Given the description of an element on the screen output the (x, y) to click on. 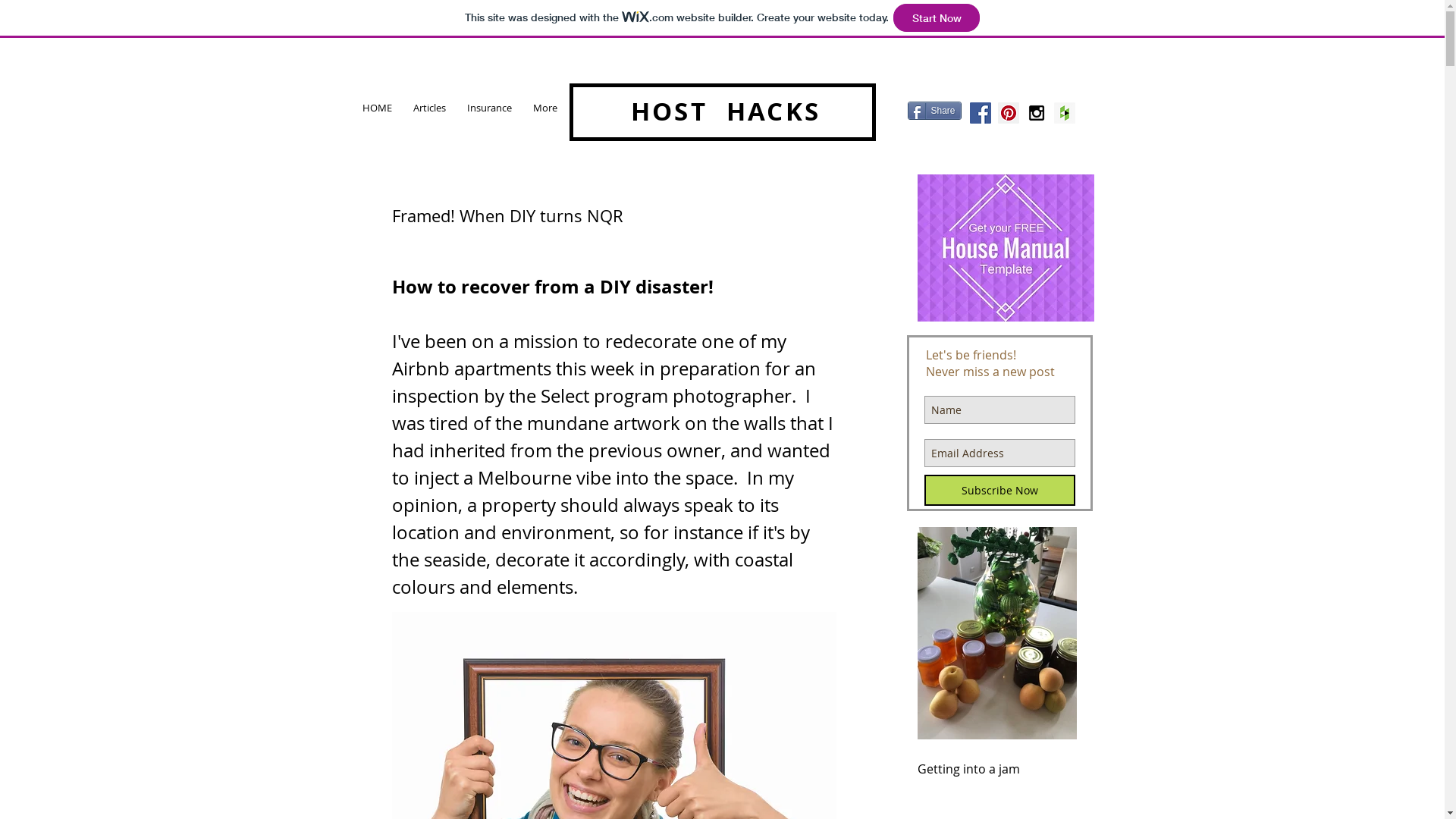
Share Element type: text (933, 110)
HOME Element type: text (376, 108)
Getting into a jam Element type: text (996, 768)
Wix Get Subscribers Element type: hover (999, 423)
HOST  HACKS Element type: text (725, 111)
Articles Element type: text (428, 108)
Insurance Element type: text (489, 108)
